Given the description of an element on the screen output the (x, y) to click on. 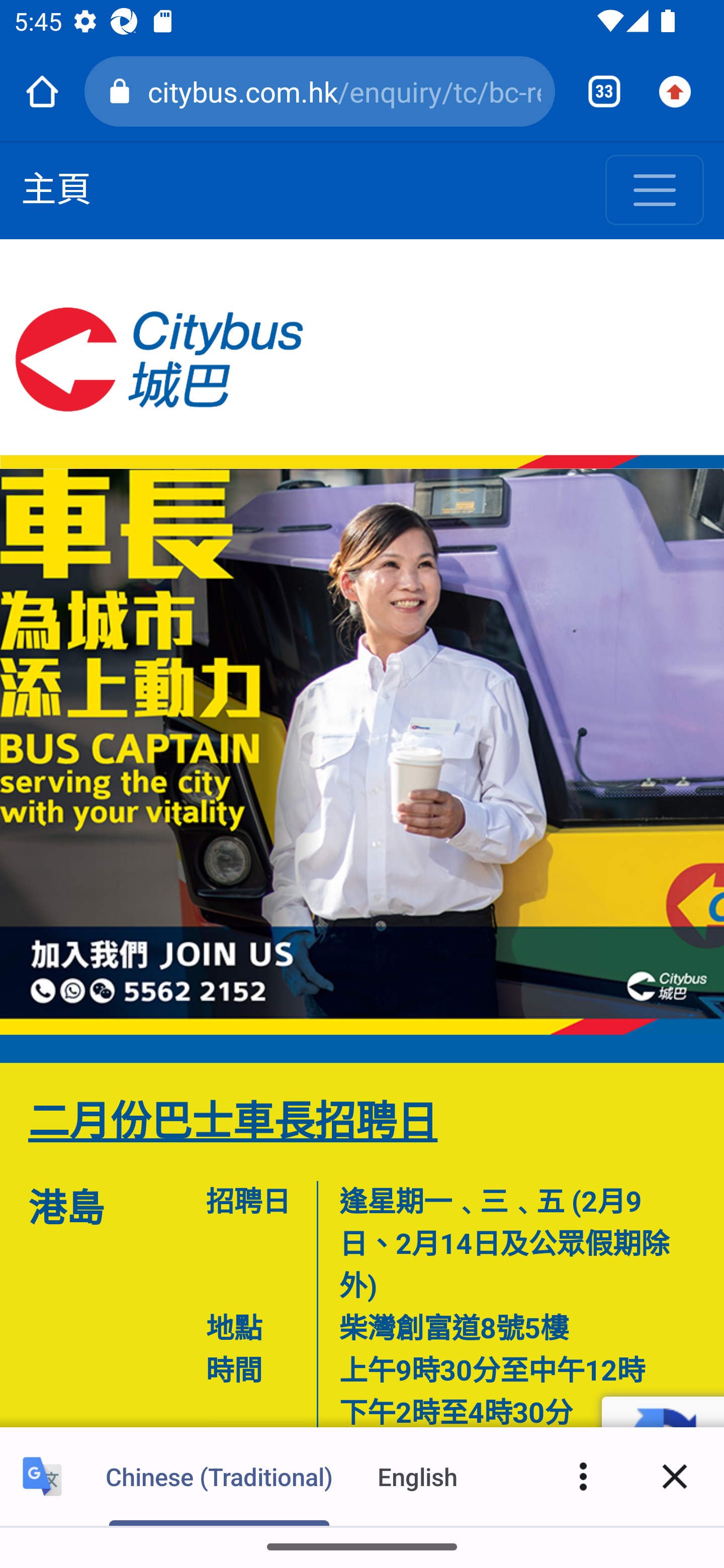
Home (42, 91)
Connection is secure (122, 91)
Switch or close tabs (597, 91)
Update available. More options (681, 91)
主頁 (56, 191)
Toggle navigation (655, 191)
English (417, 1475)
More options (582, 1475)
Close (674, 1475)
